Given the description of an element on the screen output the (x, y) to click on. 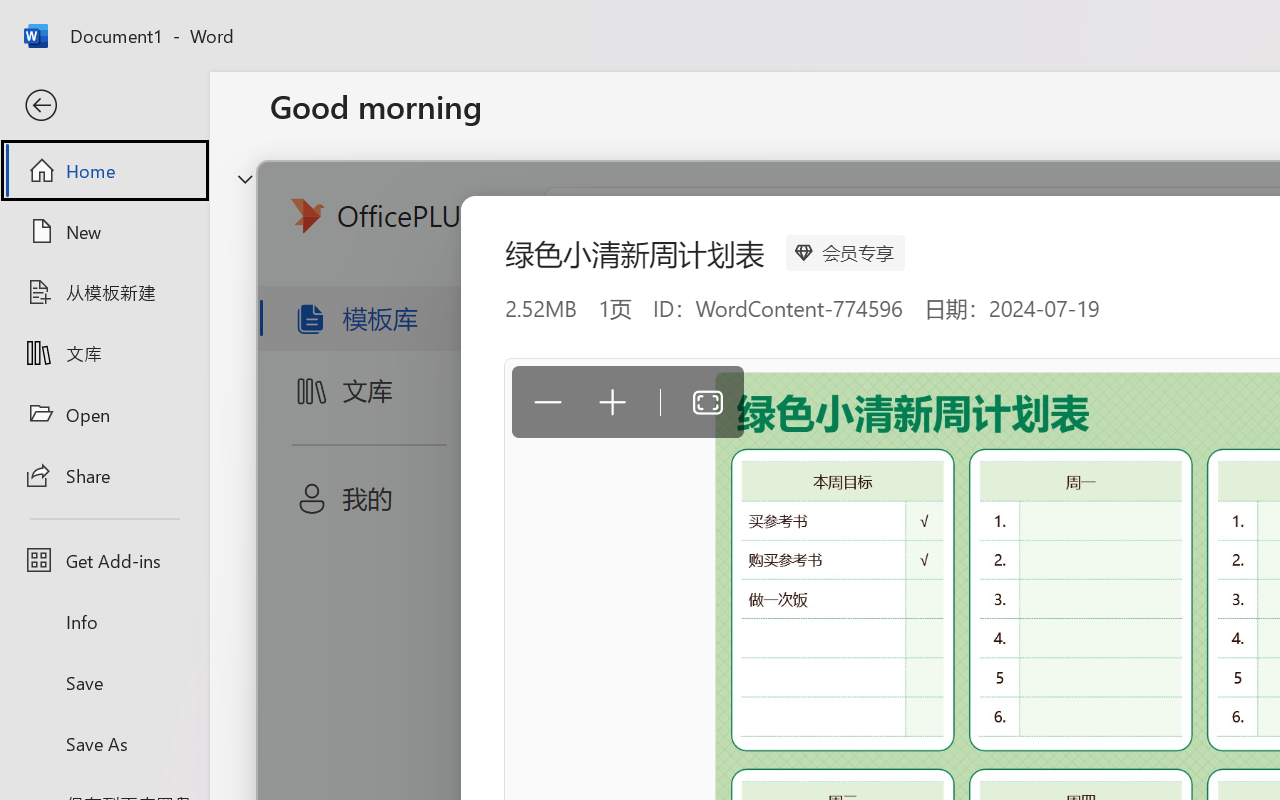
Blank document (405, 332)
Hide or show region (245, 178)
Info (104, 621)
Recent (316, 636)
Save As (104, 743)
Back (104, 106)
New (104, 231)
Shared with Me (563, 636)
Get Add-ins (104, 560)
Pinned (417, 636)
